Given the description of an element on the screen output the (x, y) to click on. 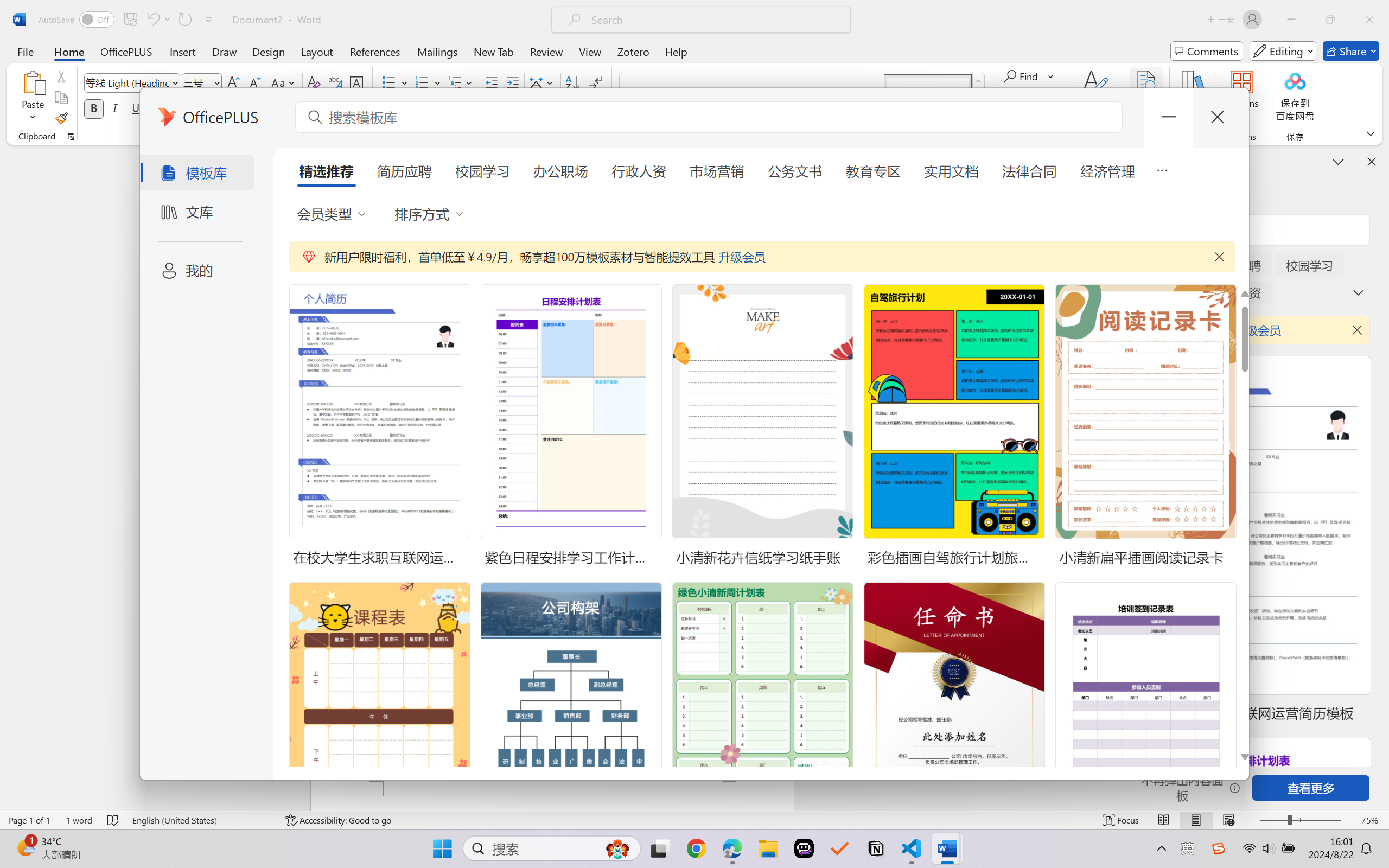
Class: Image (1218, 847)
Save (130, 19)
Quick Access Toolbar (127, 19)
Class: MsoCommandBar (694, 819)
Paste (33, 97)
